Given the description of an element on the screen output the (x, y) to click on. 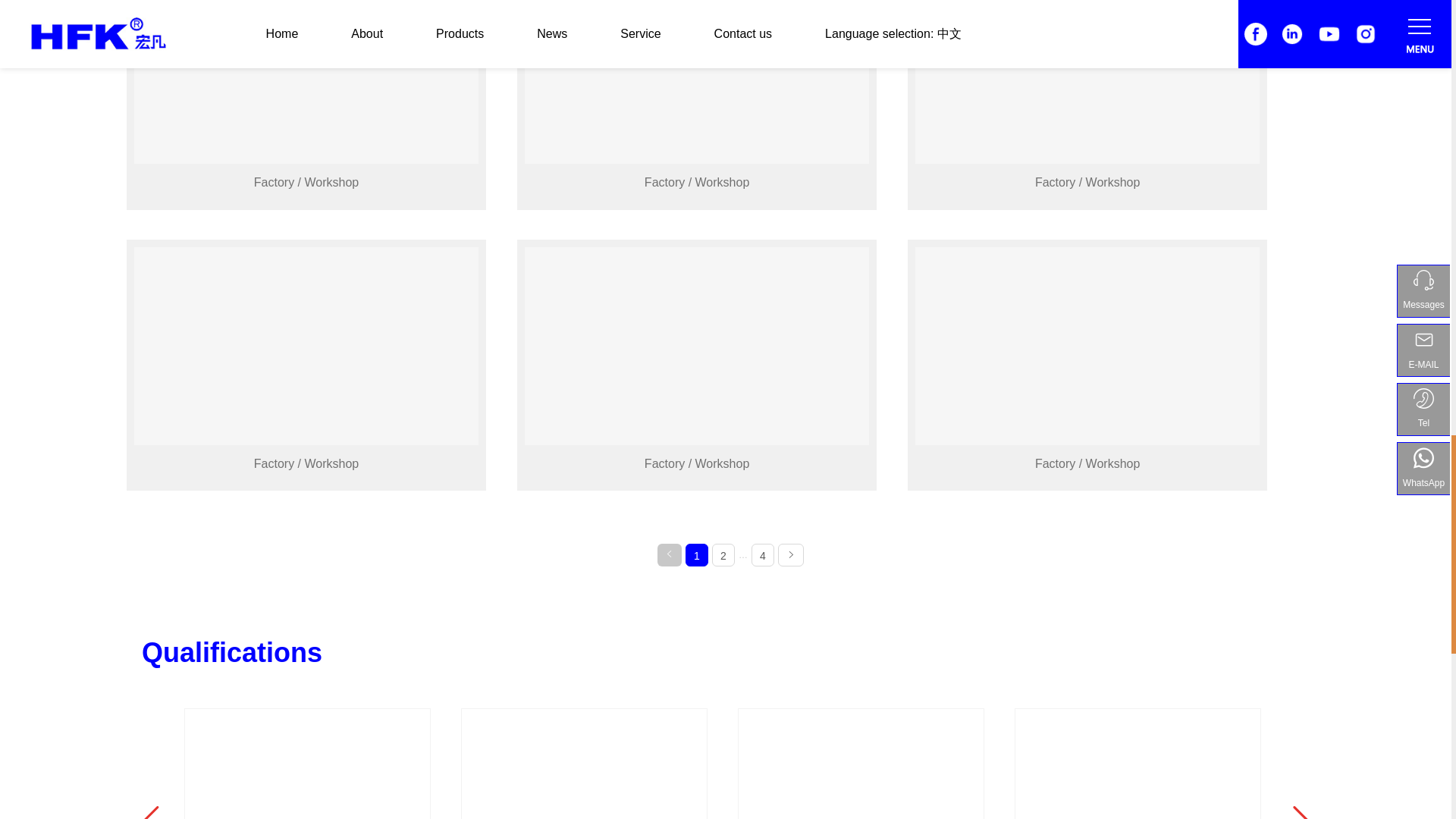
HFK Electronic (305, 81)
HFK Electronic (1087, 81)
HFK Electronic (697, 81)
